Given the description of an element on the screen output the (x, y) to click on. 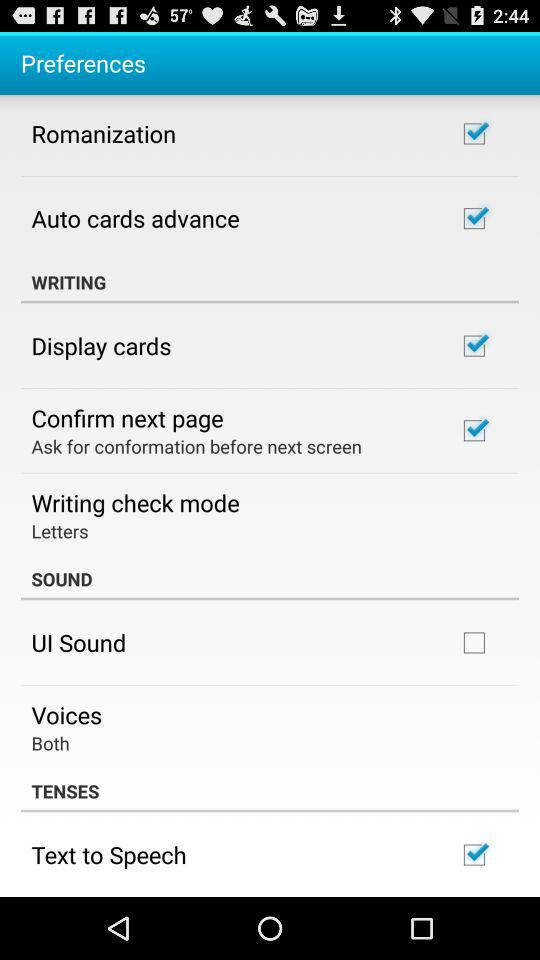
turn off app below the preferences app (103, 133)
